Given the description of an element on the screen output the (x, y) to click on. 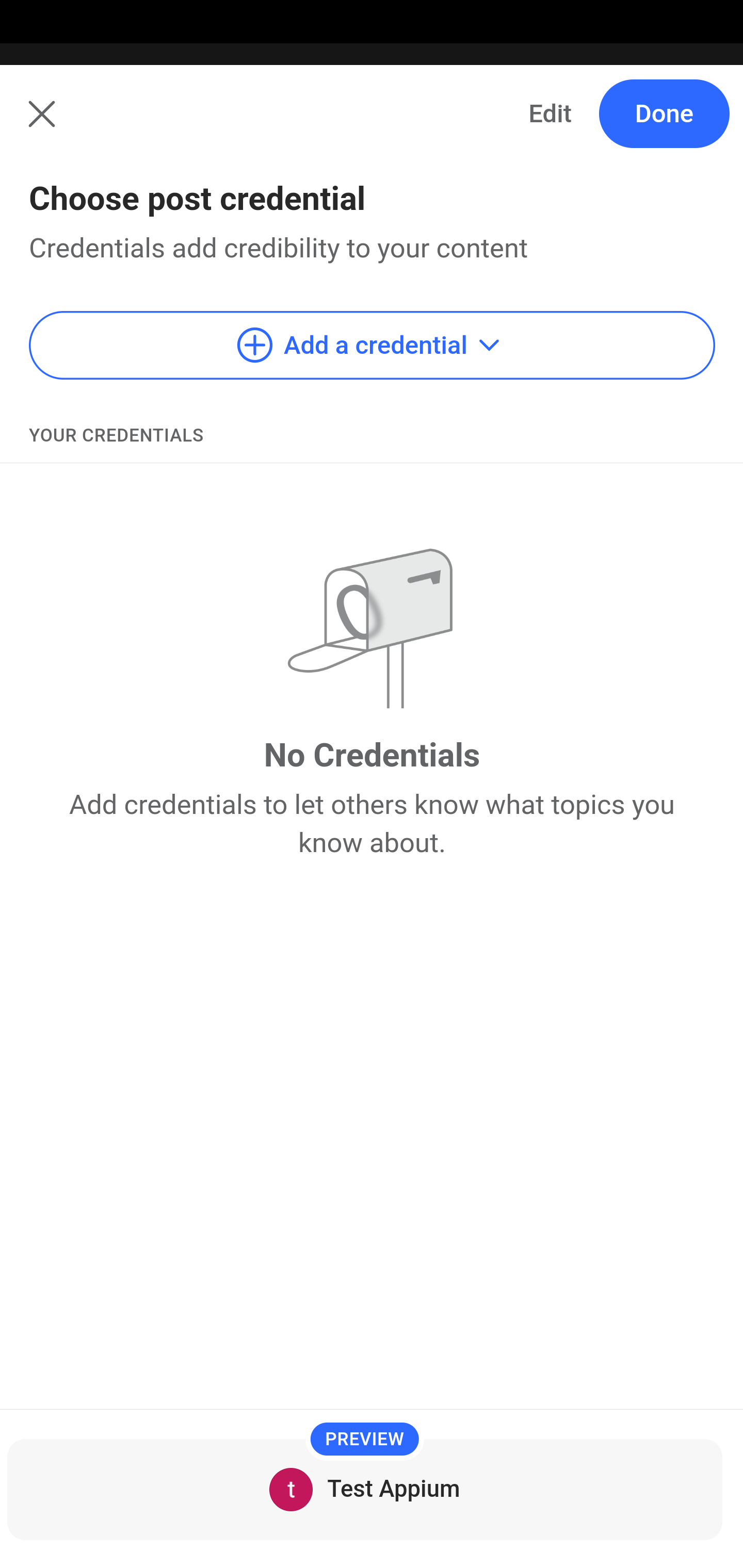
Me Home Search Add (371, 125)
Me (64, 125)
